Given the description of an element on the screen output the (x, y) to click on. 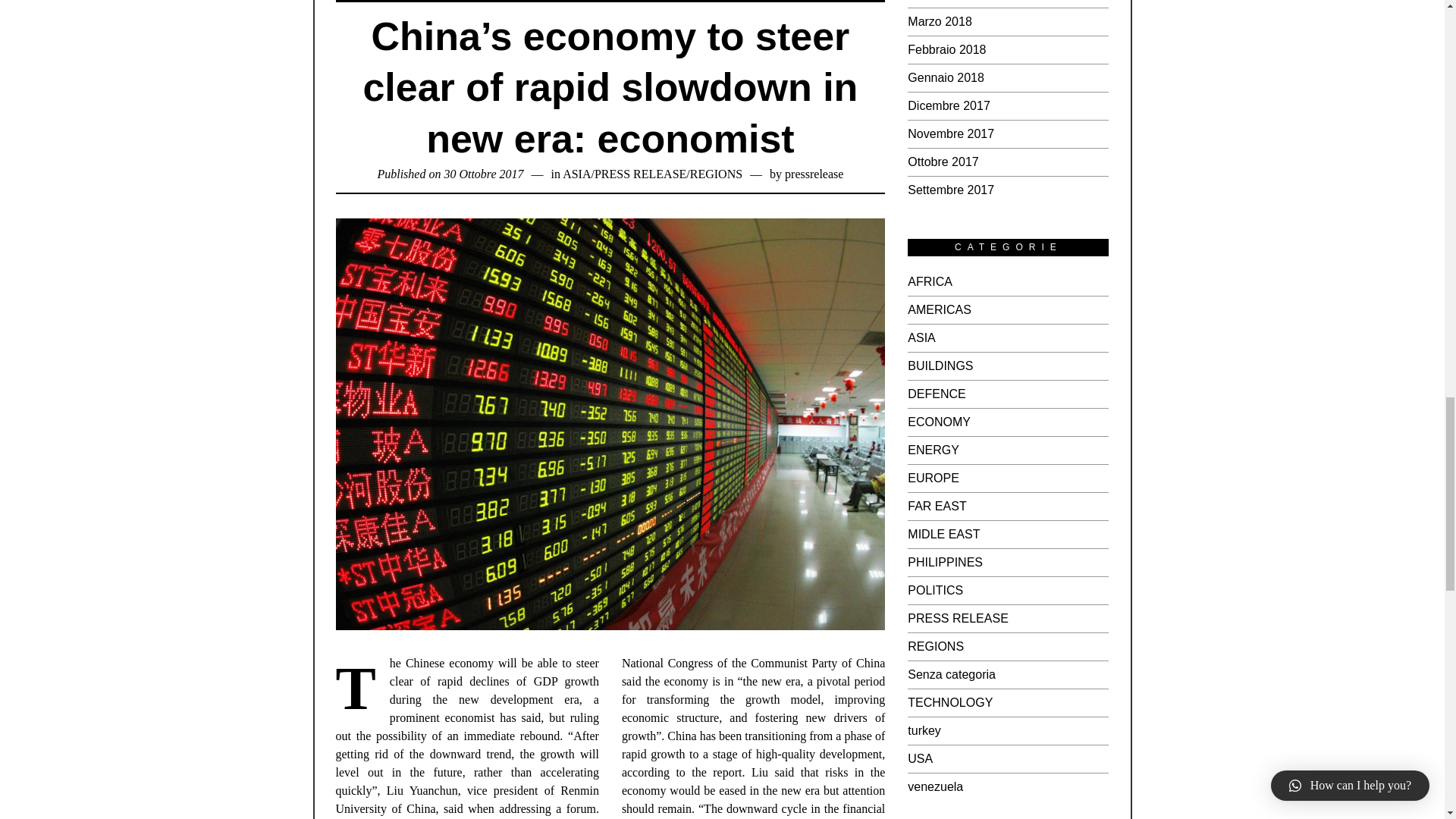
ASIA (576, 173)
